Given the description of an element on the screen output the (x, y) to click on. 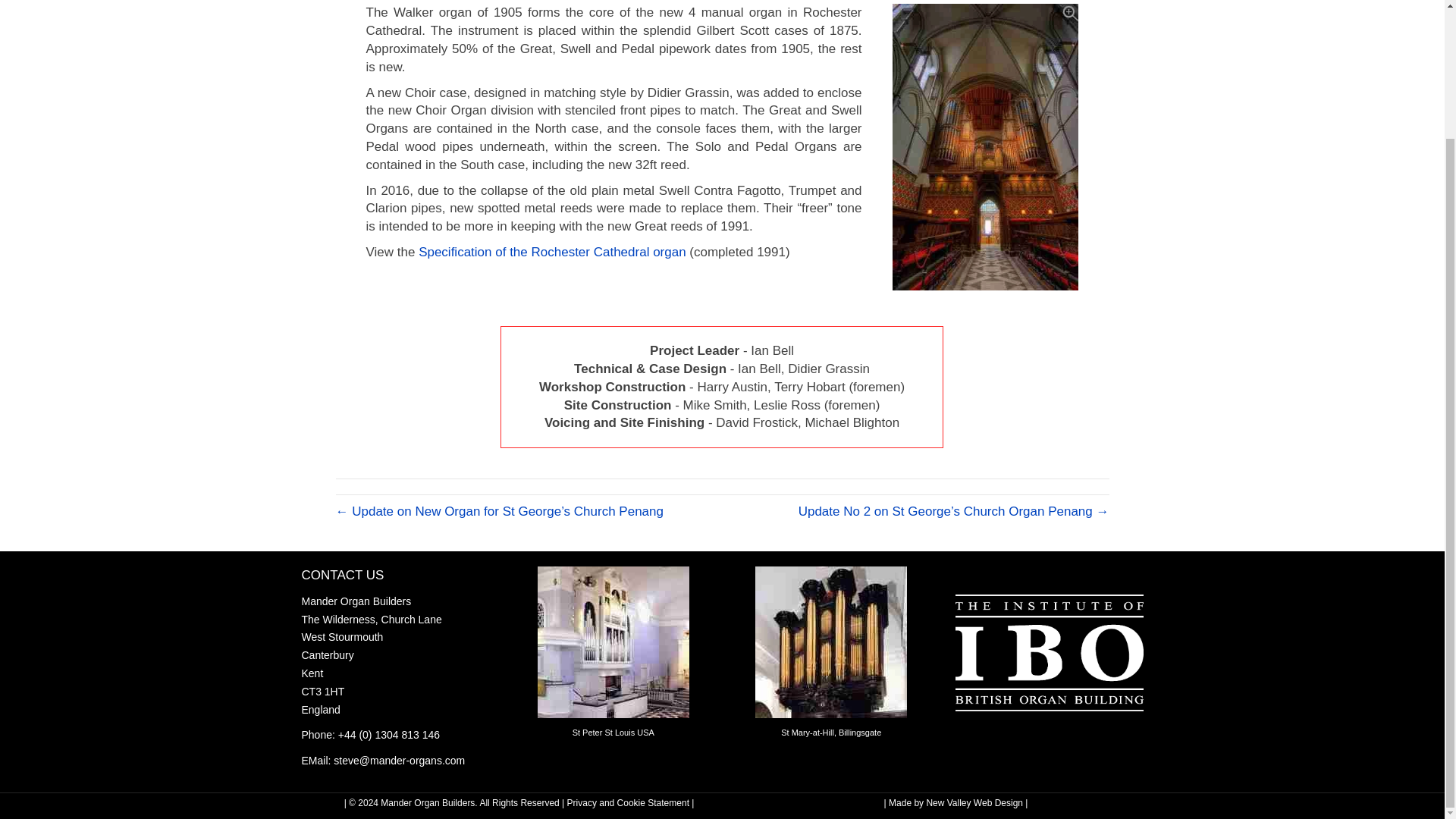
St Mary at Hillsmall (831, 642)
St. Peter St Louis 200 (612, 642)
Specification of the Rochester Cathedral organ (552, 251)
Privacy and Cookie Statement (627, 802)
